Given the description of an element on the screen output the (x, y) to click on. 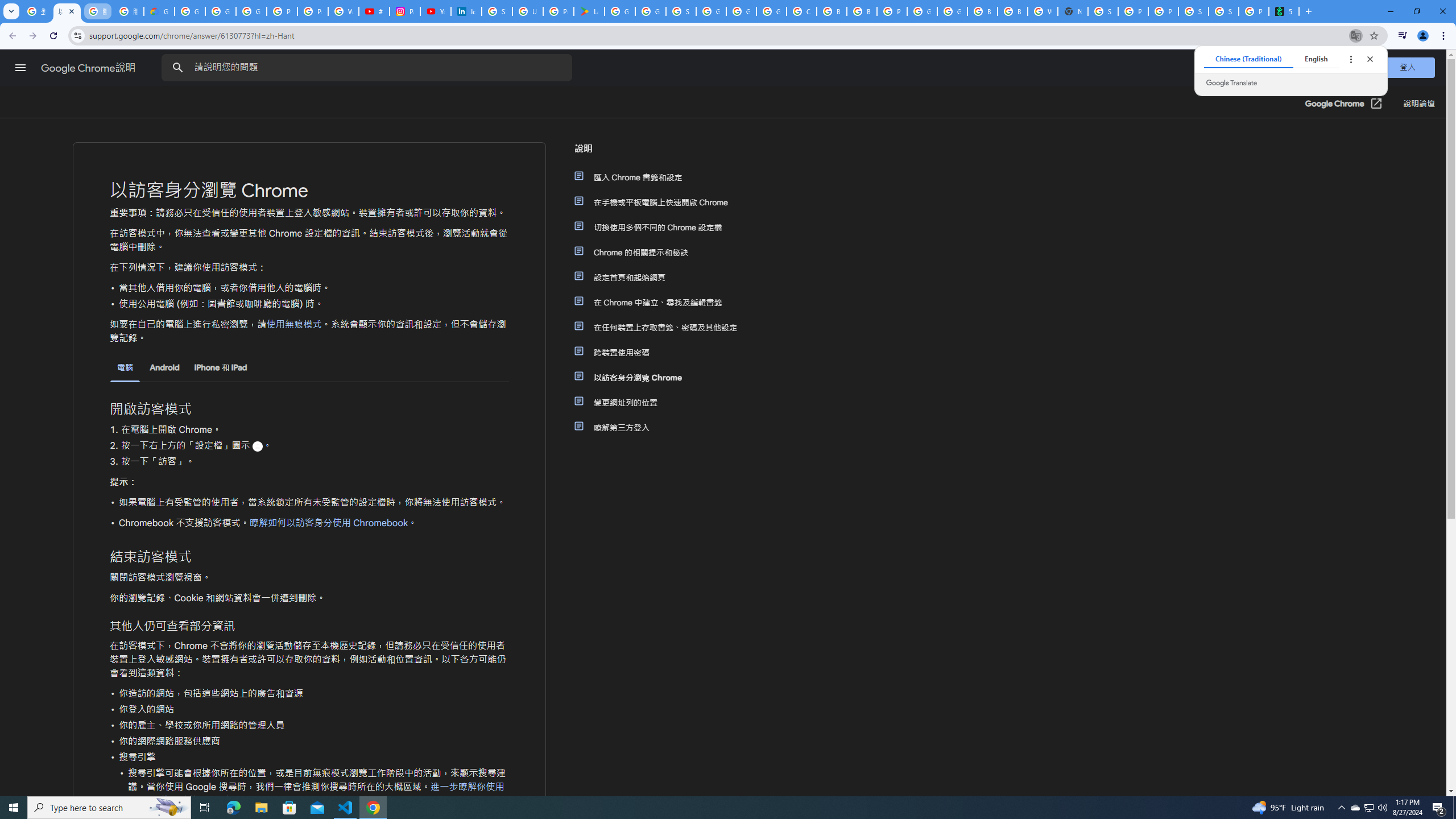
Sign in - Google Accounts (496, 11)
